Given the description of an element on the screen output the (x, y) to click on. 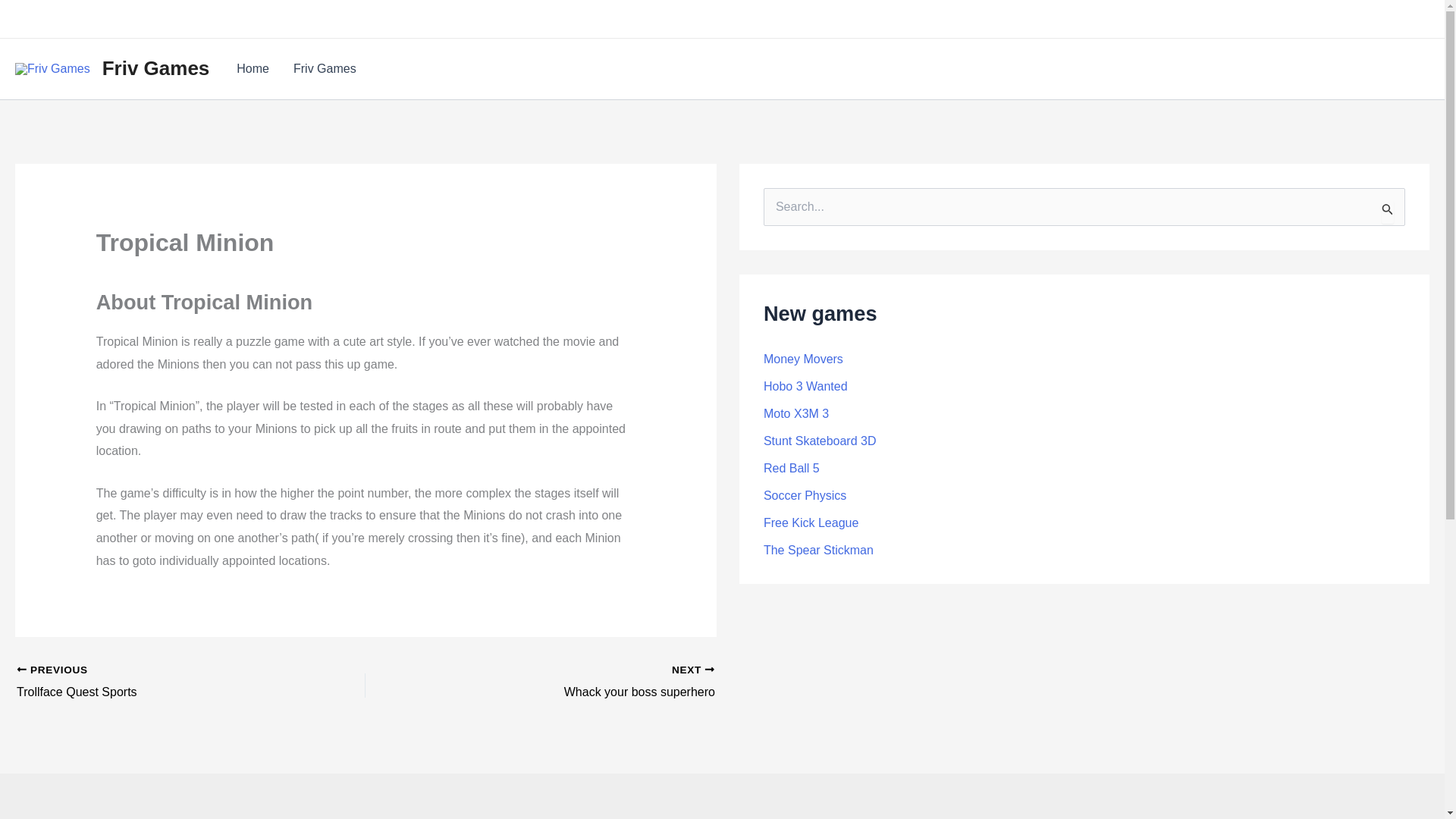
Trollface Quest Sports (156, 681)
Money Movers (802, 358)
Hobo 3 Wanted (804, 386)
Whack your boss superhero (573, 681)
Free Kick League (810, 522)
Friv Games (155, 67)
Soccer Physics (803, 495)
Red Ball 5 (156, 681)
Home (790, 468)
